Given the description of an element on the screen output the (x, y) to click on. 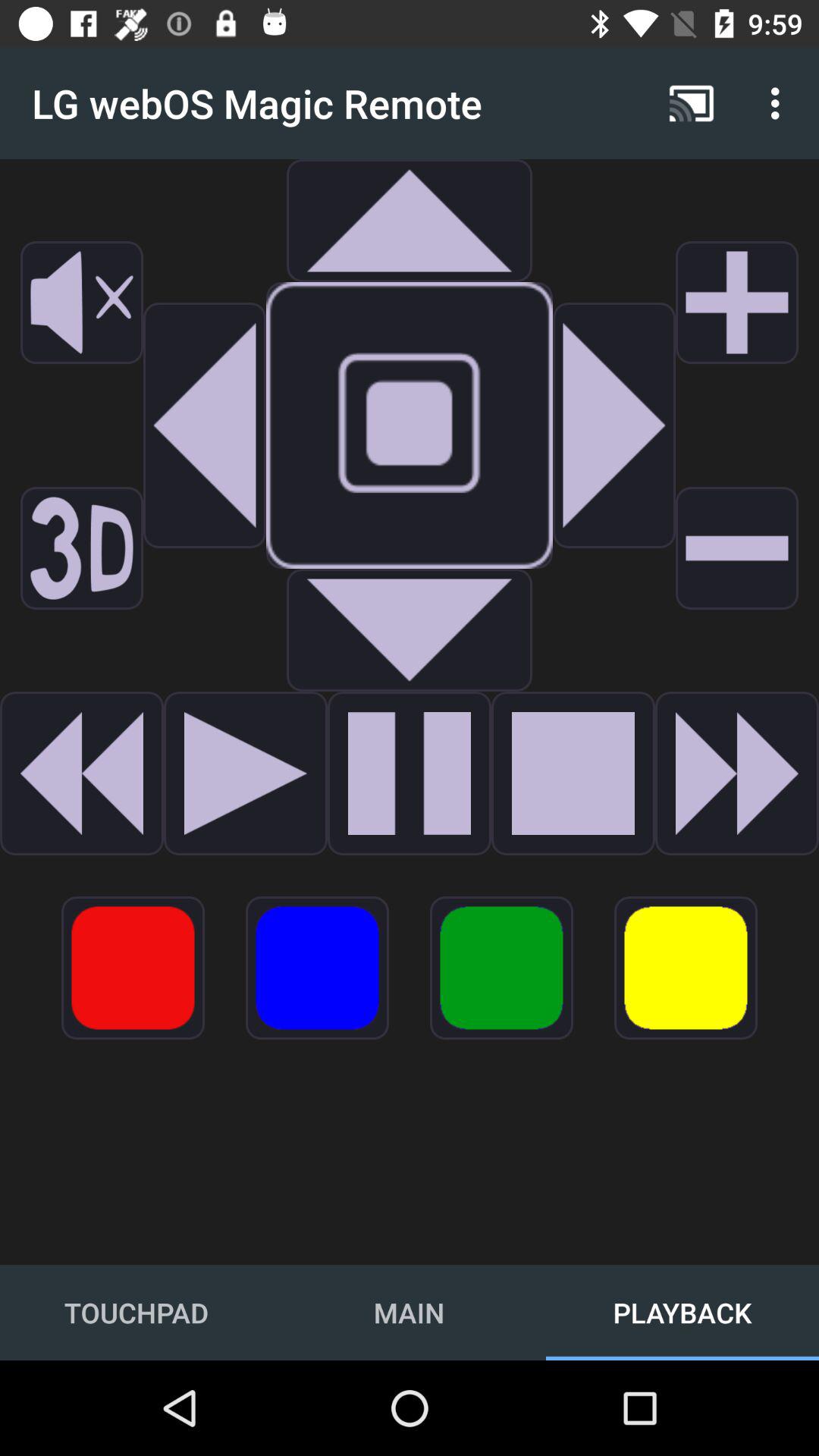
fast forward (737, 773)
